Given the description of an element on the screen output the (x, y) to click on. 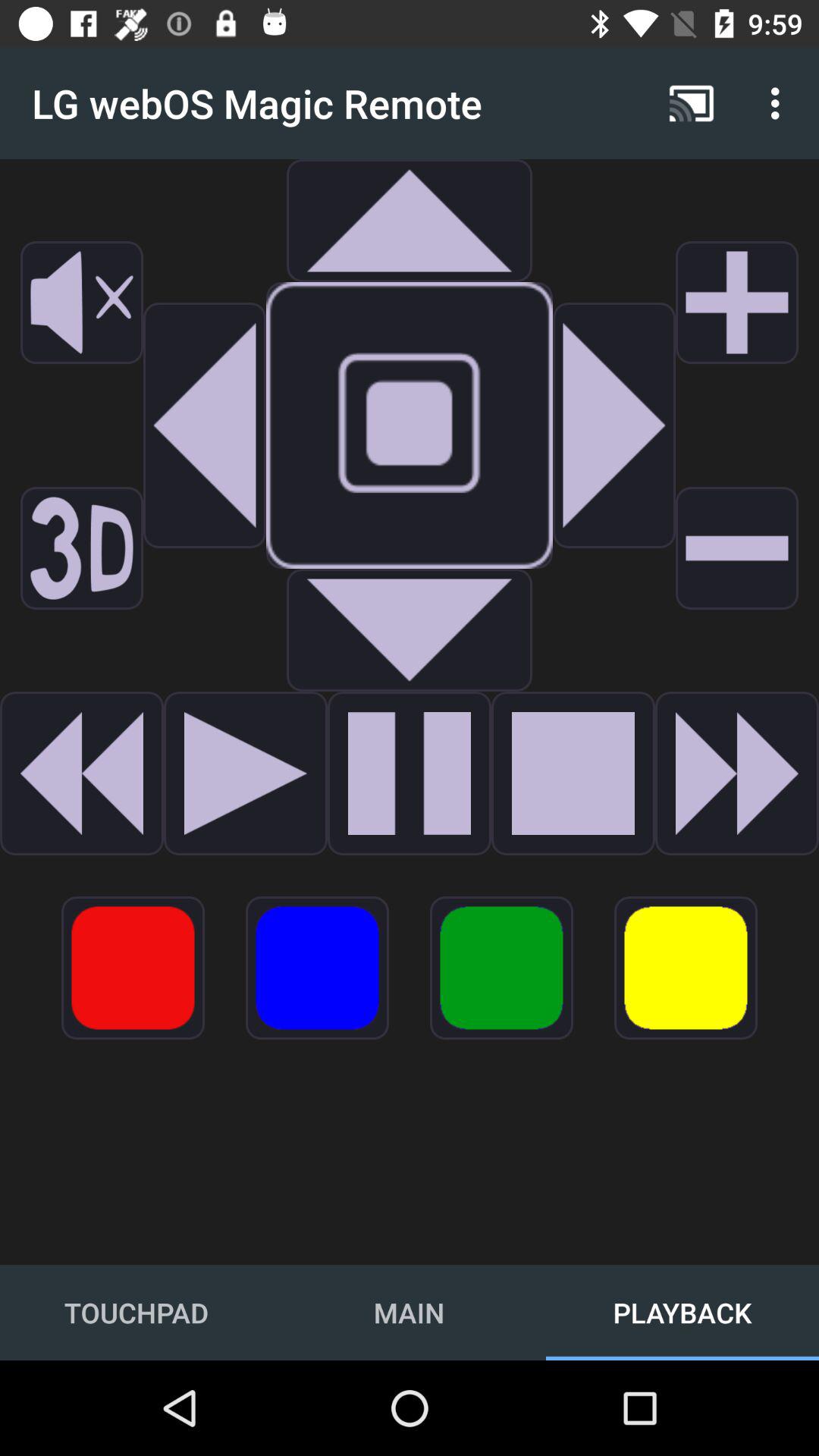
fast forward (737, 773)
